Given the description of an element on the screen output the (x, y) to click on. 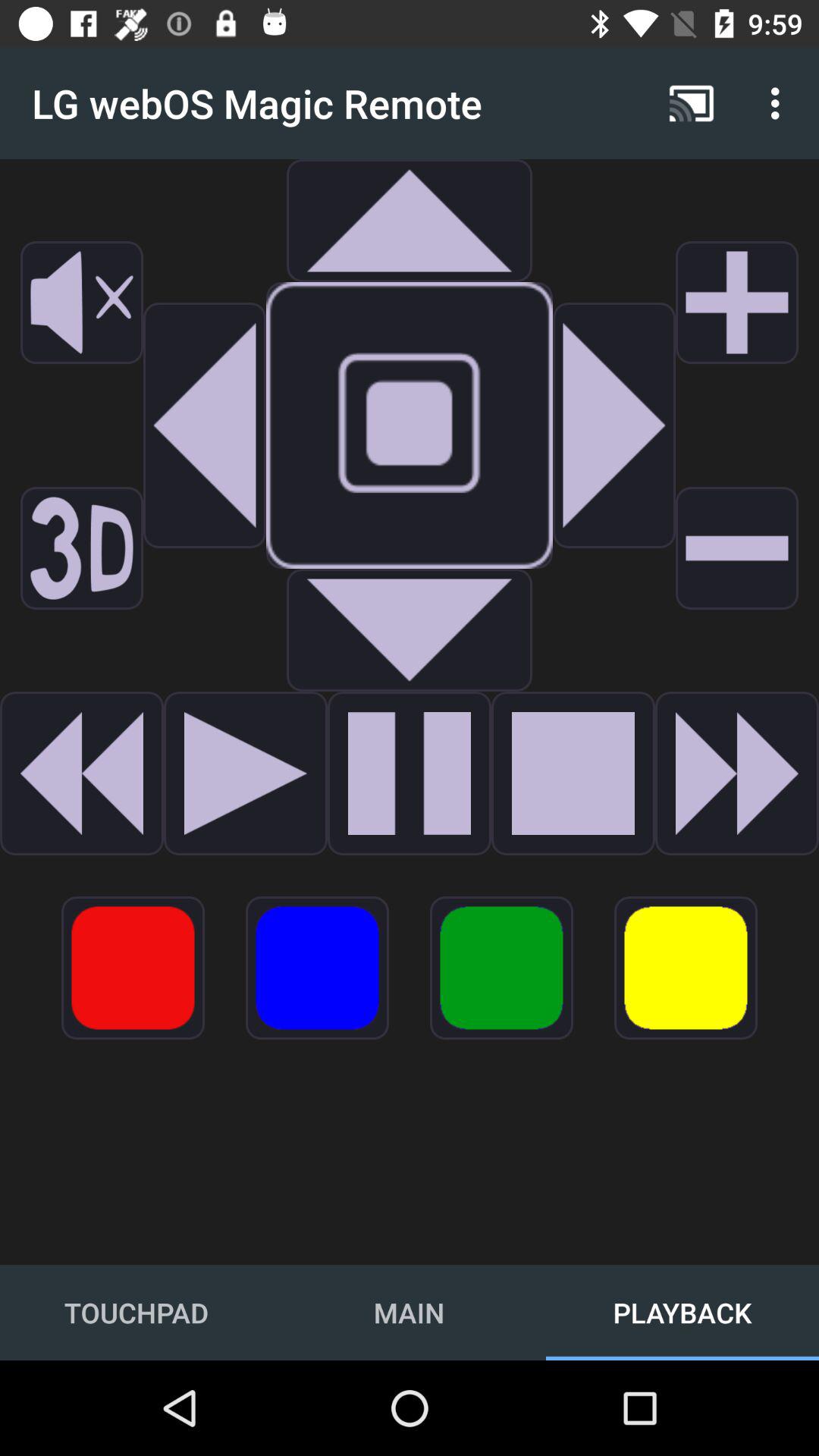
fast forward (737, 773)
